Given the description of an element on the screen output the (x, y) to click on. 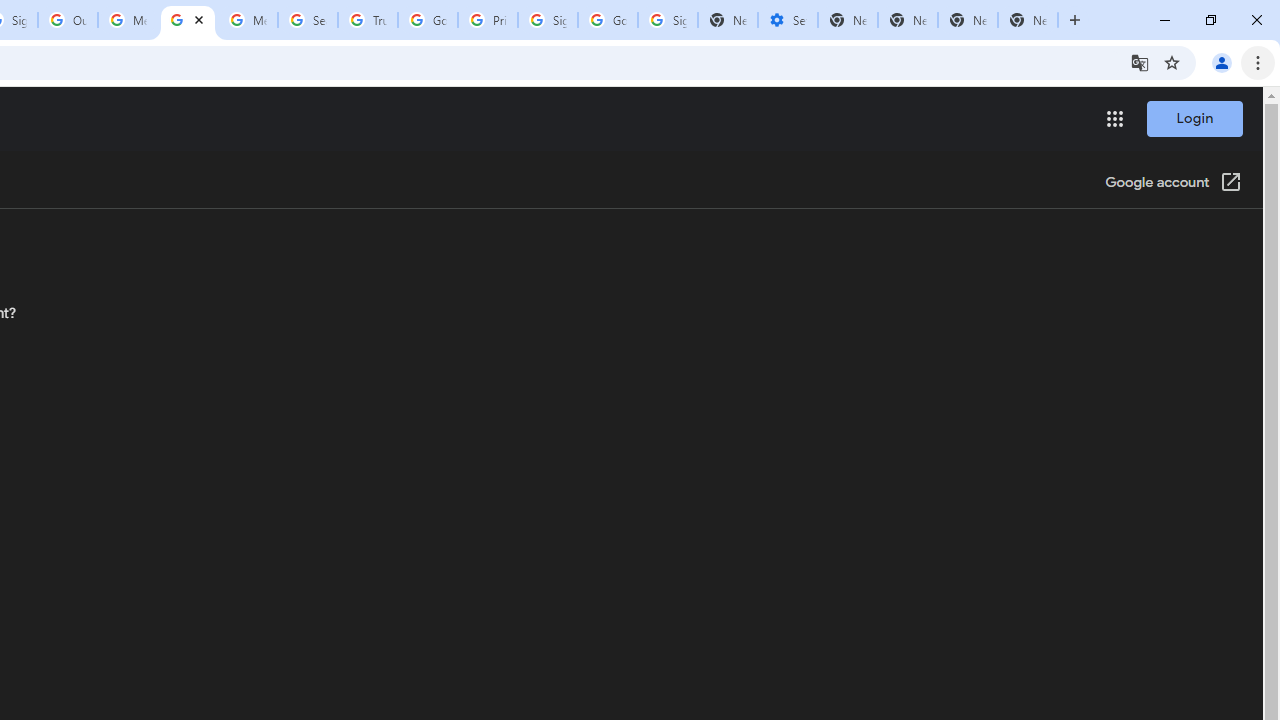
Settings - Performance (787, 20)
Sign in - Google Accounts (548, 20)
New Tab (1028, 20)
Google Cybersecurity Innovations - Google Safety Center (607, 20)
Google Ads - Sign in (428, 20)
